Given the description of an element on the screen output the (x, y) to click on. 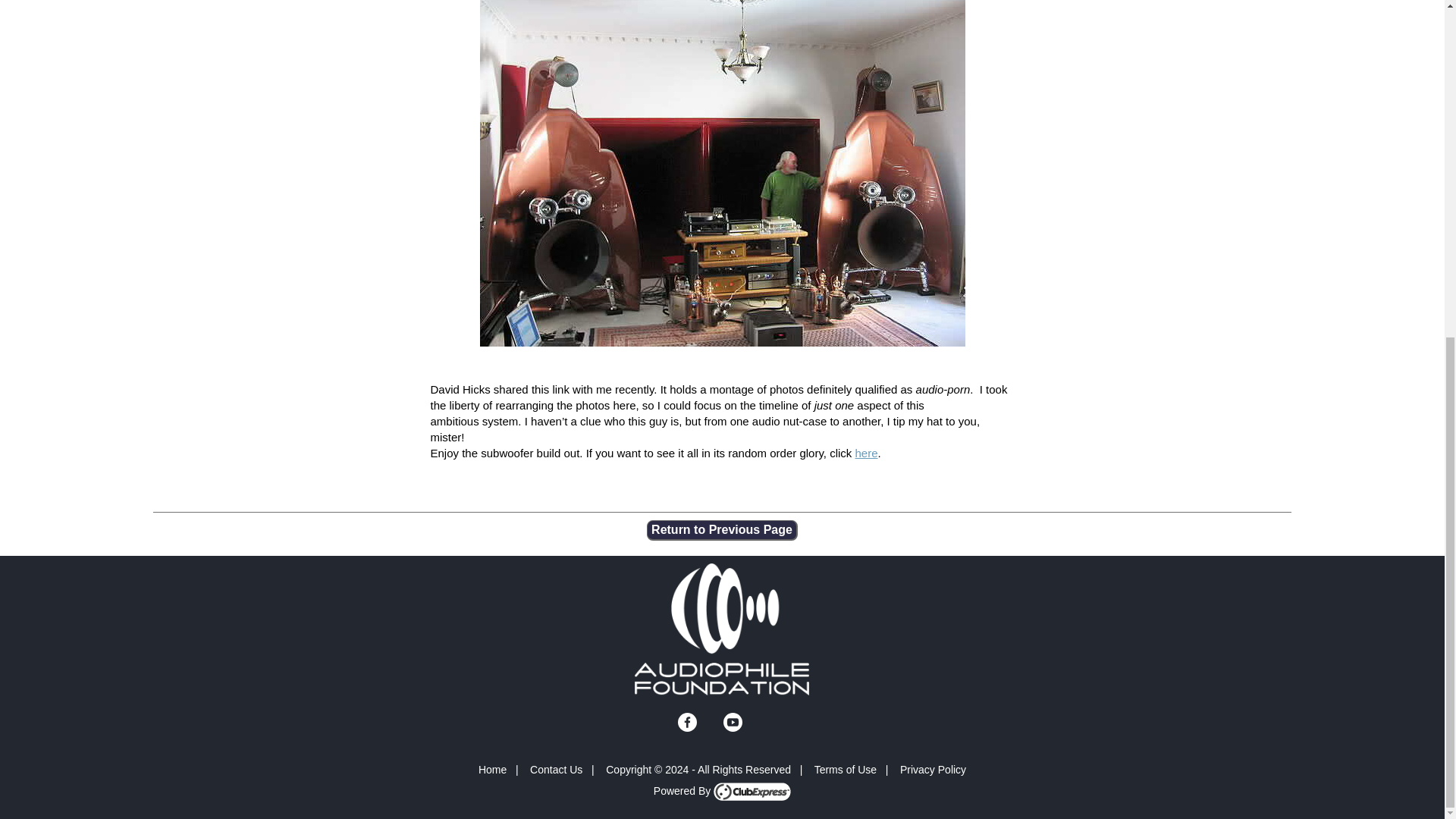
Visit us on YouTube (732, 722)
Visit us on Facebook (687, 722)
here (866, 452)
Visit us on Instagram (709, 722)
Click here for more sharing options (755, 722)
